Given the description of an element on the screen output the (x, y) to click on. 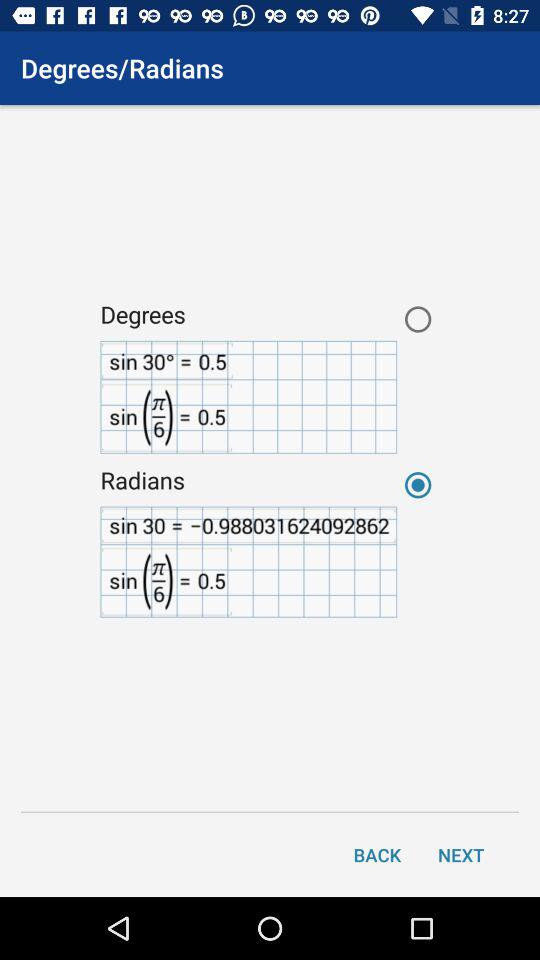
click next icon (461, 854)
